Given the description of an element on the screen output the (x, y) to click on. 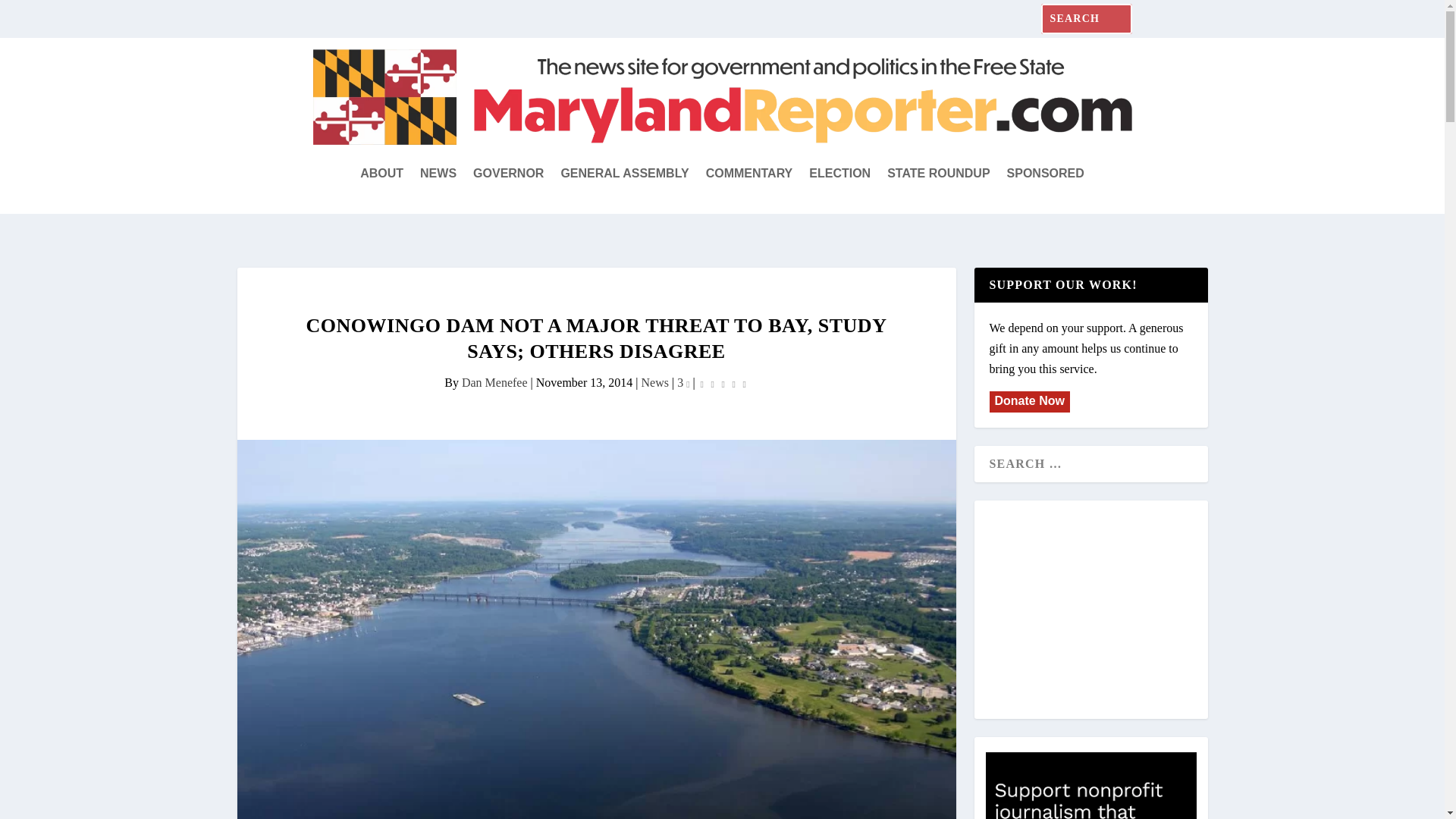
ELECTION (839, 173)
News (655, 382)
COMMENTARY (749, 173)
STATE ROUNDUP (938, 173)
Search (34, 14)
Posts by Dan Menefee (494, 382)
SPONSORED (1045, 173)
3 (682, 382)
GOVERNOR (508, 173)
GENERAL ASSEMBLY (624, 173)
Rating: 0.00 (723, 382)
Dan Menefee (494, 382)
Donate Now (1028, 400)
Search (29, 15)
